Given the description of an element on the screen output the (x, y) to click on. 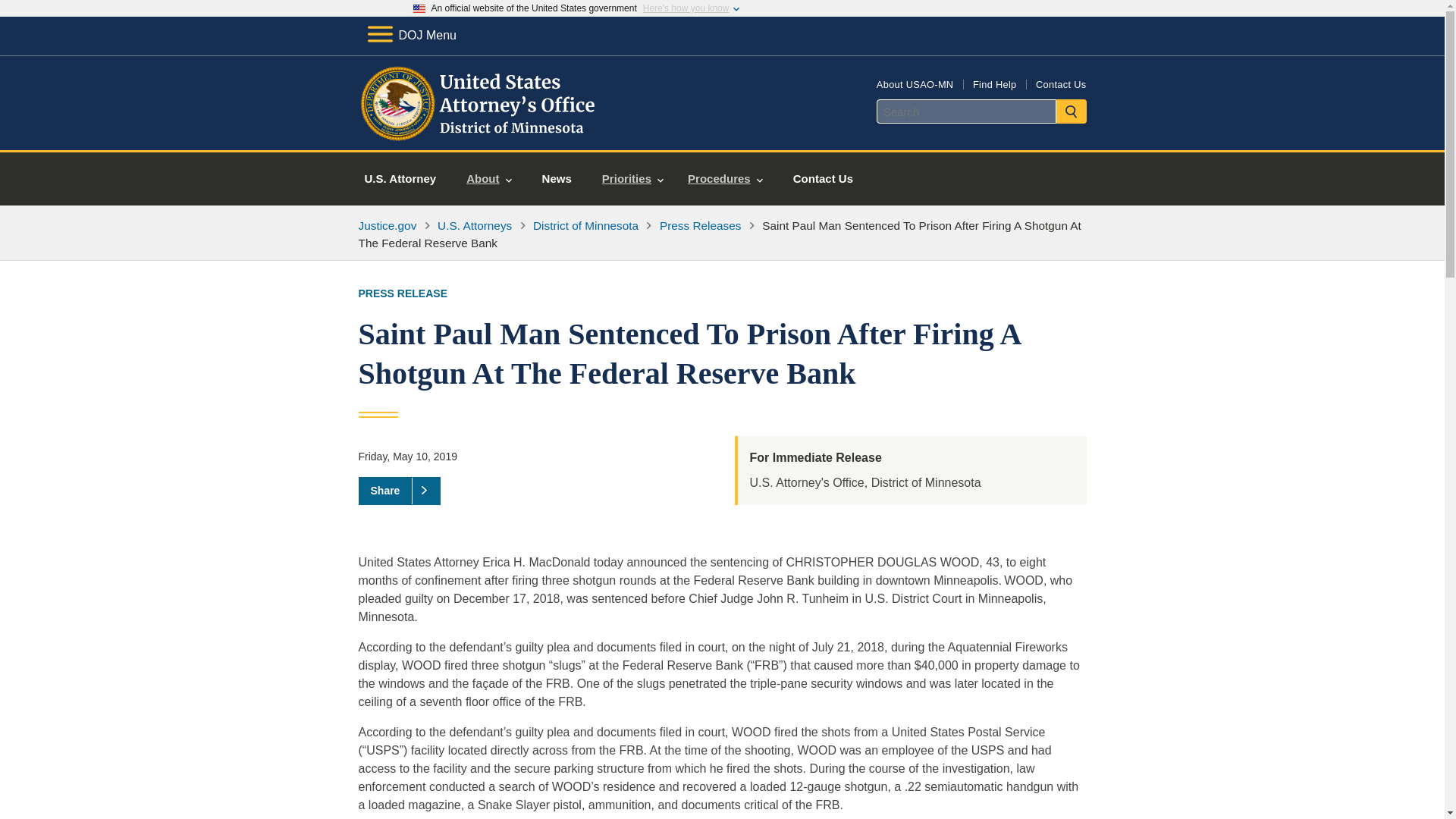
Share (398, 490)
About USAO-MN (914, 84)
Justice.gov (387, 225)
Procedures (724, 179)
Here's how you know (686, 8)
DOJ Menu (411, 35)
Priorities (632, 179)
Press Releases (700, 225)
About (488, 179)
District of Minnesota (585, 225)
